Given the description of an element on the screen output the (x, y) to click on. 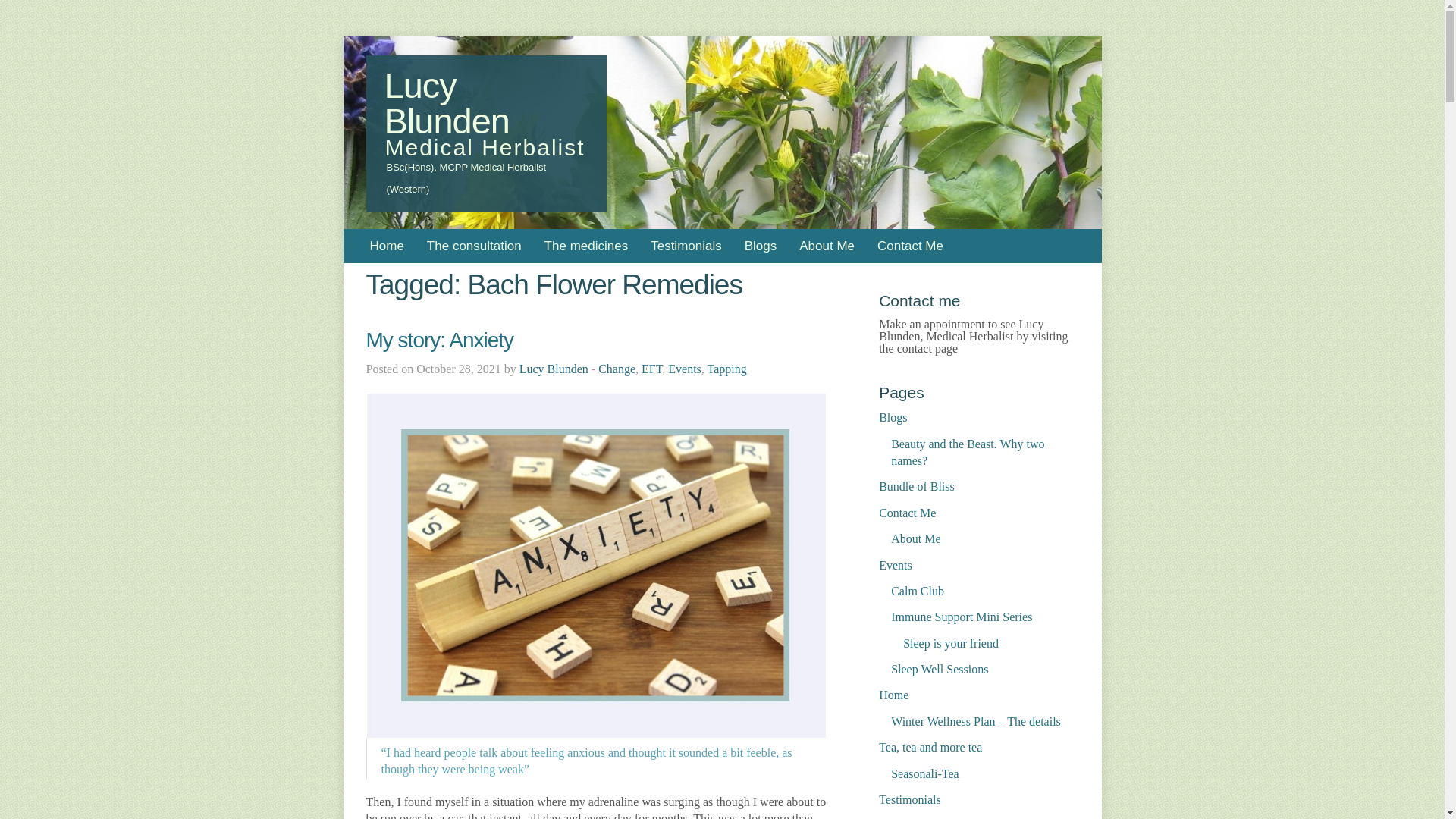
My story: Anxiety (439, 340)
Lucy Blunden (553, 368)
Contact Me (910, 245)
Events (684, 368)
Posts by Lucy Blunden (553, 368)
About Me (826, 245)
The medicines (586, 245)
Testimonials (686, 245)
EFT (652, 368)
The consultation (473, 245)
My story: Anxiety (439, 340)
Blogs (761, 245)
Tapping (726, 368)
Change (616, 368)
Home (386, 245)
